Given the description of an element on the screen output the (x, y) to click on. 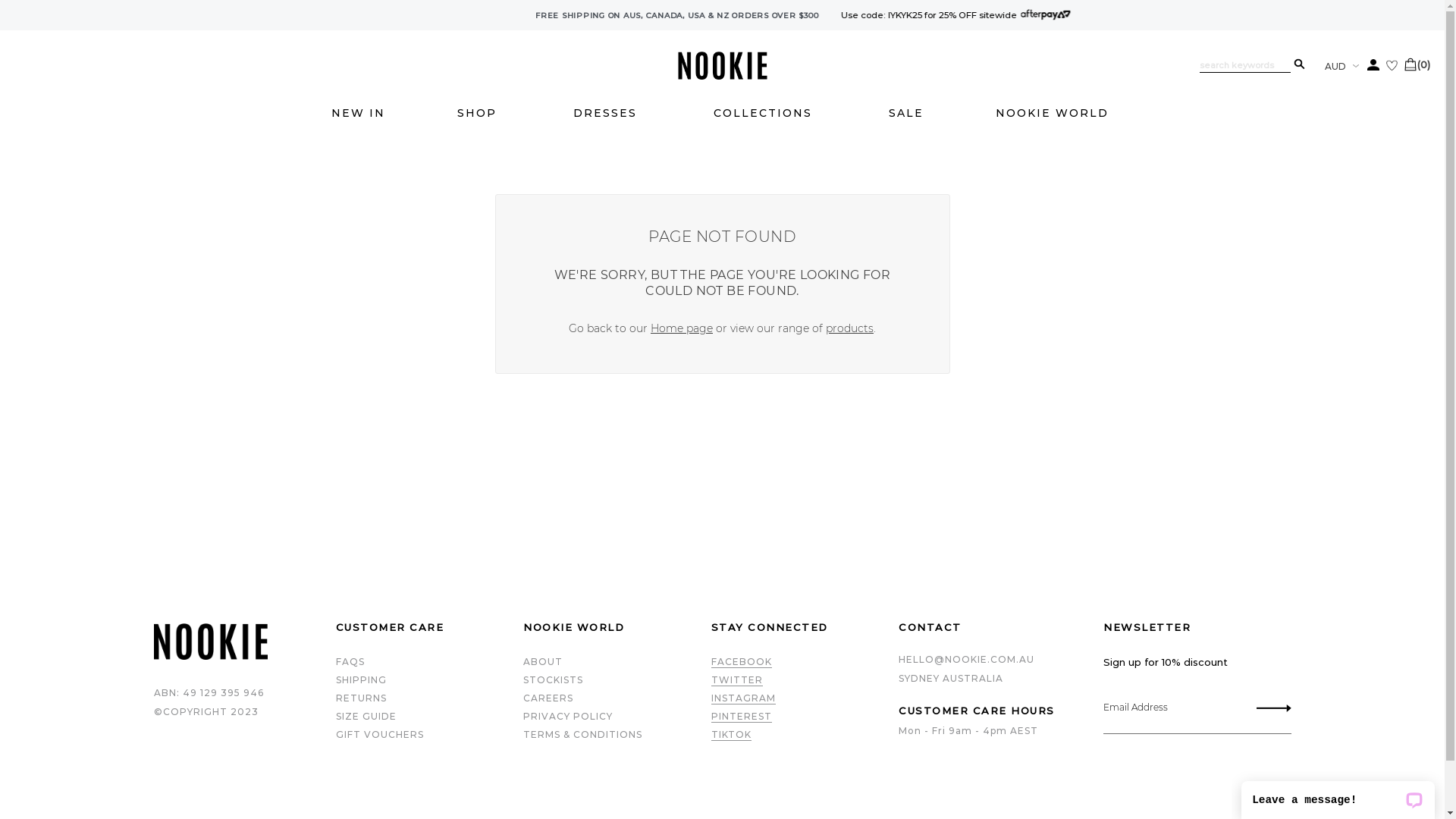
TIKTOK Element type: text (736, 734)
PINTEREST Element type: text (746, 716)
GIFT VOUCHERS Element type: text (385, 734)
SALE Element type: text (911, 113)
FAQS Element type: text (355, 661)
SHIPPING Element type: text (366, 679)
RETURNS Element type: text (366, 697)
OK Element type: text (1278, 708)
Nookie Element type: hover (721, 75)
NEW IN Element type: text (363, 113)
products Element type: text (854, 328)
CAREERS Element type: text (554, 697)
TERMS & CONDITIONS Element type: text (588, 734)
TWITTER Element type: text (742, 680)
SIZE GUIDE Element type: text (371, 715)
ABOUT Element type: text (548, 661)
COLLECTIONS  Element type: text (770, 113)
INSTAGRAM Element type: text (748, 698)
SHOP  Element type: text (484, 113)
FACEBOOK Element type: text (746, 661)
NOOKIE WORLD  Element type: text (1059, 113)
STOCKISTS Element type: text (559, 679)
Home page Element type: text (687, 328)
DRESSES  Element type: text (613, 113)
PRIVACY POLICY Element type: text (573, 715)
HELLO@NOOKIE.COM.AU Element type: text (1005, 659)
(0) Element type: text (1428, 64)
